Given the description of an element on the screen output the (x, y) to click on. 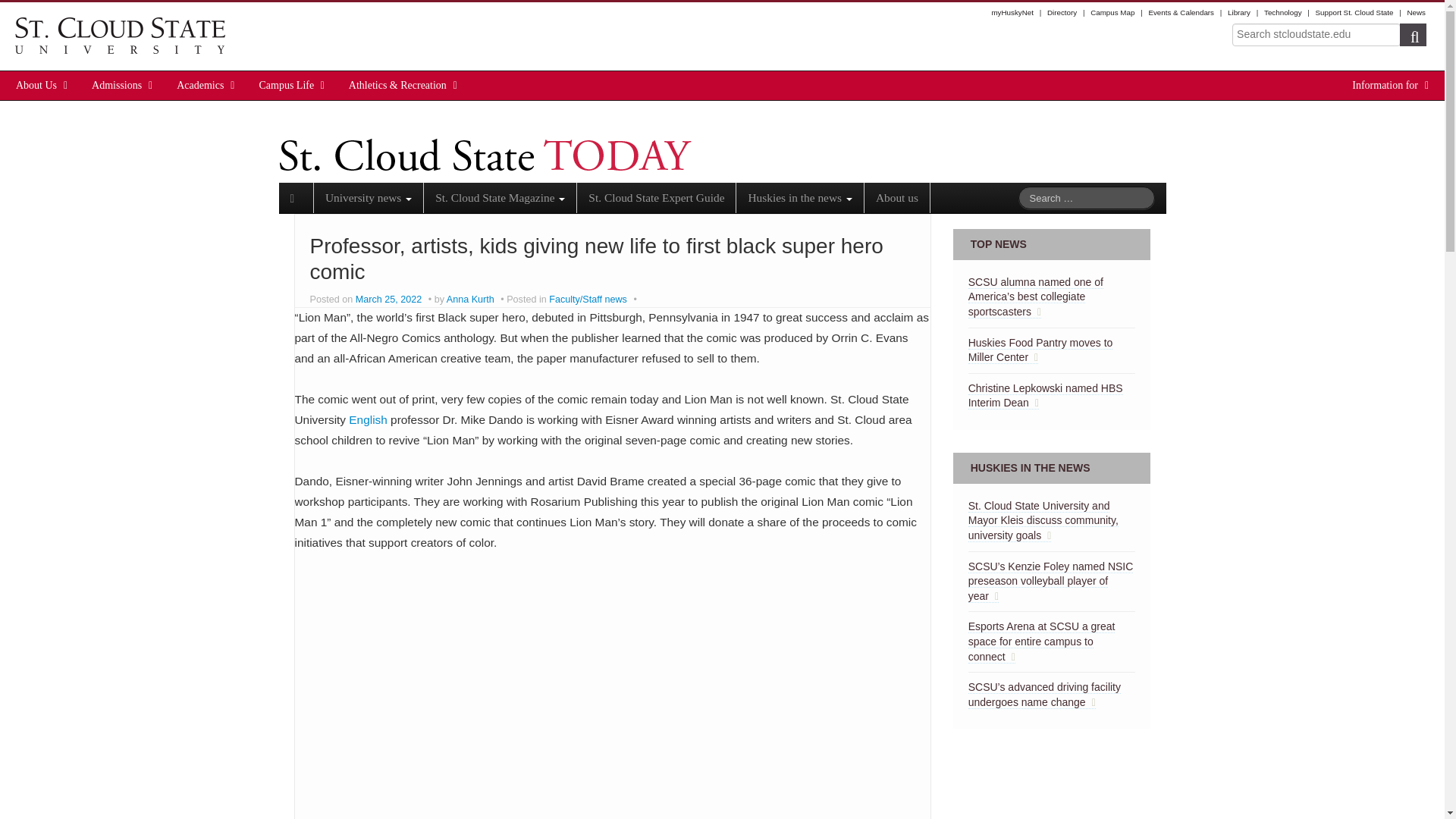
Campus Life (286, 85)
Search stcloudstate.edu (1315, 34)
Academics (199, 85)
Admissions (116, 85)
About Us (36, 85)
3:57 pm (390, 299)
Search stcloudstate.edu (1315, 34)
View all posts by Anna Kurth (470, 299)
